Given the description of an element on the screen output the (x, y) to click on. 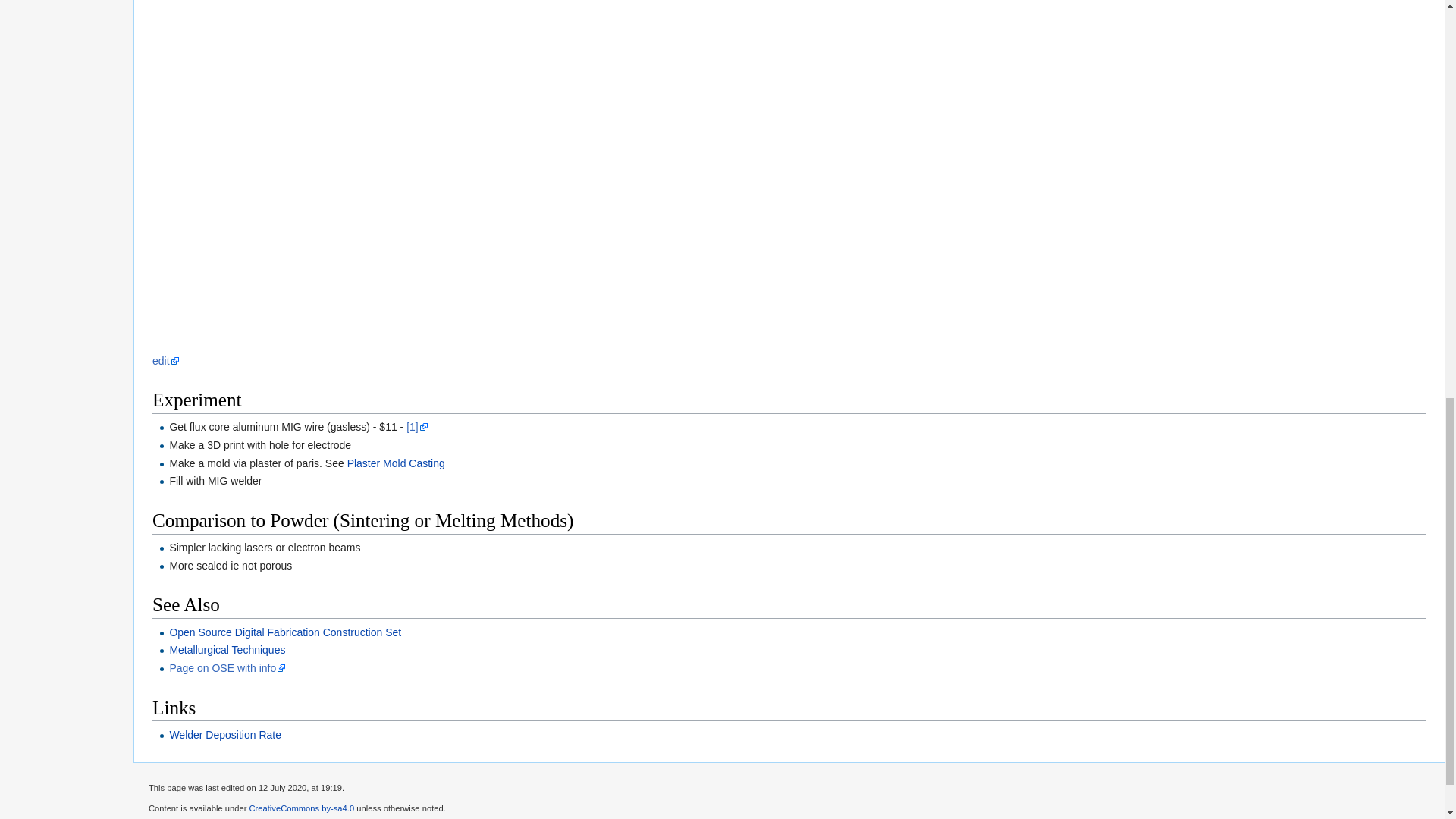
Metallurgical Techniques (226, 649)
Welder Deposition Rate (224, 734)
Welder Deposition Rate (224, 734)
Metallurgical Techniques (226, 649)
Open Source Digital Fabrication Construction Set (284, 632)
Plaster Mold Casting (396, 463)
Plaster Mold Casting (396, 463)
Page on OSE with info (226, 667)
Open Source Digital Fabrication Construction Set (284, 632)
edit (165, 360)
